Given the description of an element on the screen output the (x, y) to click on. 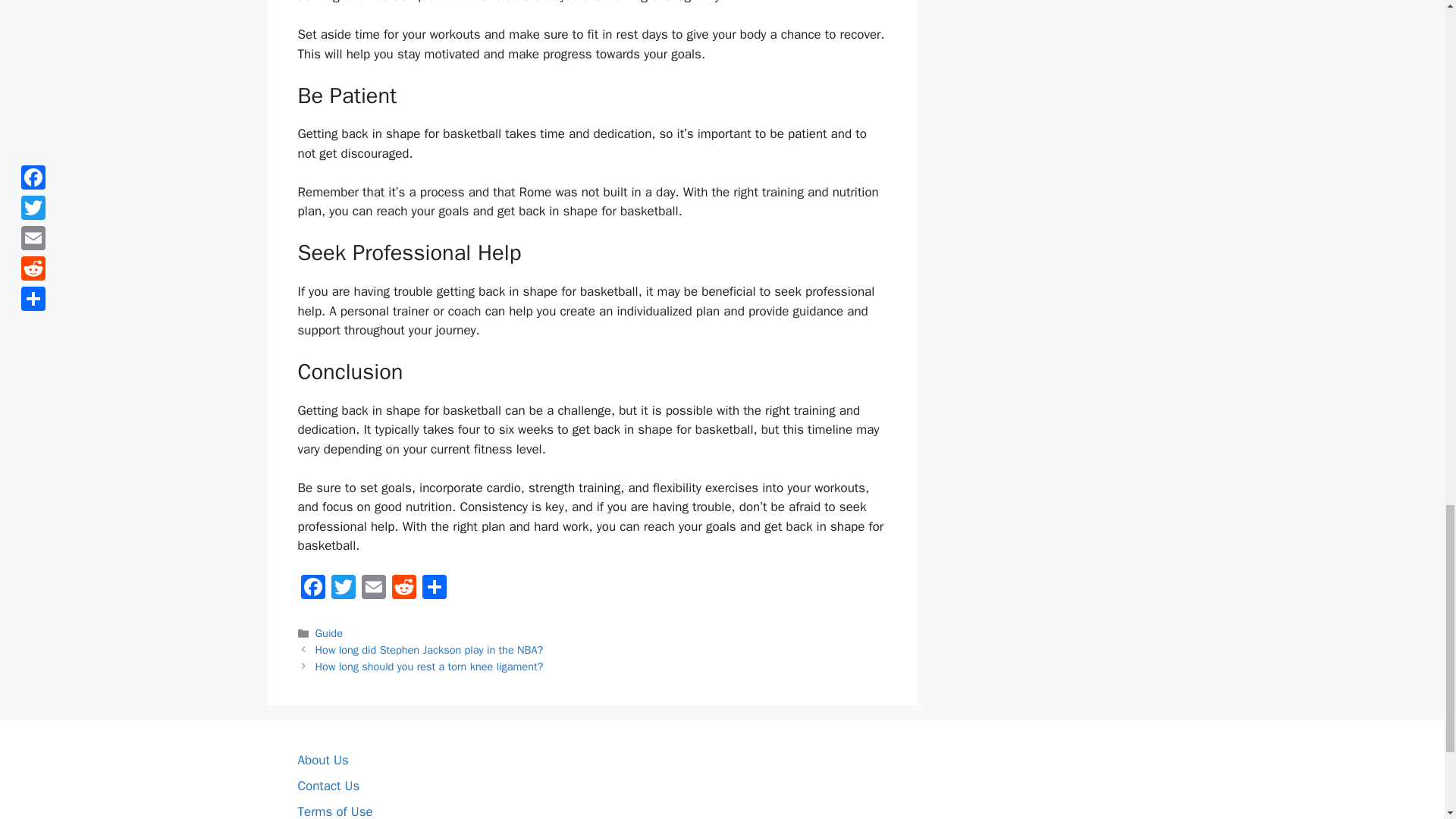
Guide (328, 632)
Facebook (312, 588)
Twitter (342, 588)
How long should you rest a torn knee ligament? (429, 666)
About Us (322, 760)
Terms of Use (334, 811)
Email (373, 588)
Facebook (312, 588)
Email (373, 588)
Twitter (342, 588)
